Given the description of an element on the screen output the (x, y) to click on. 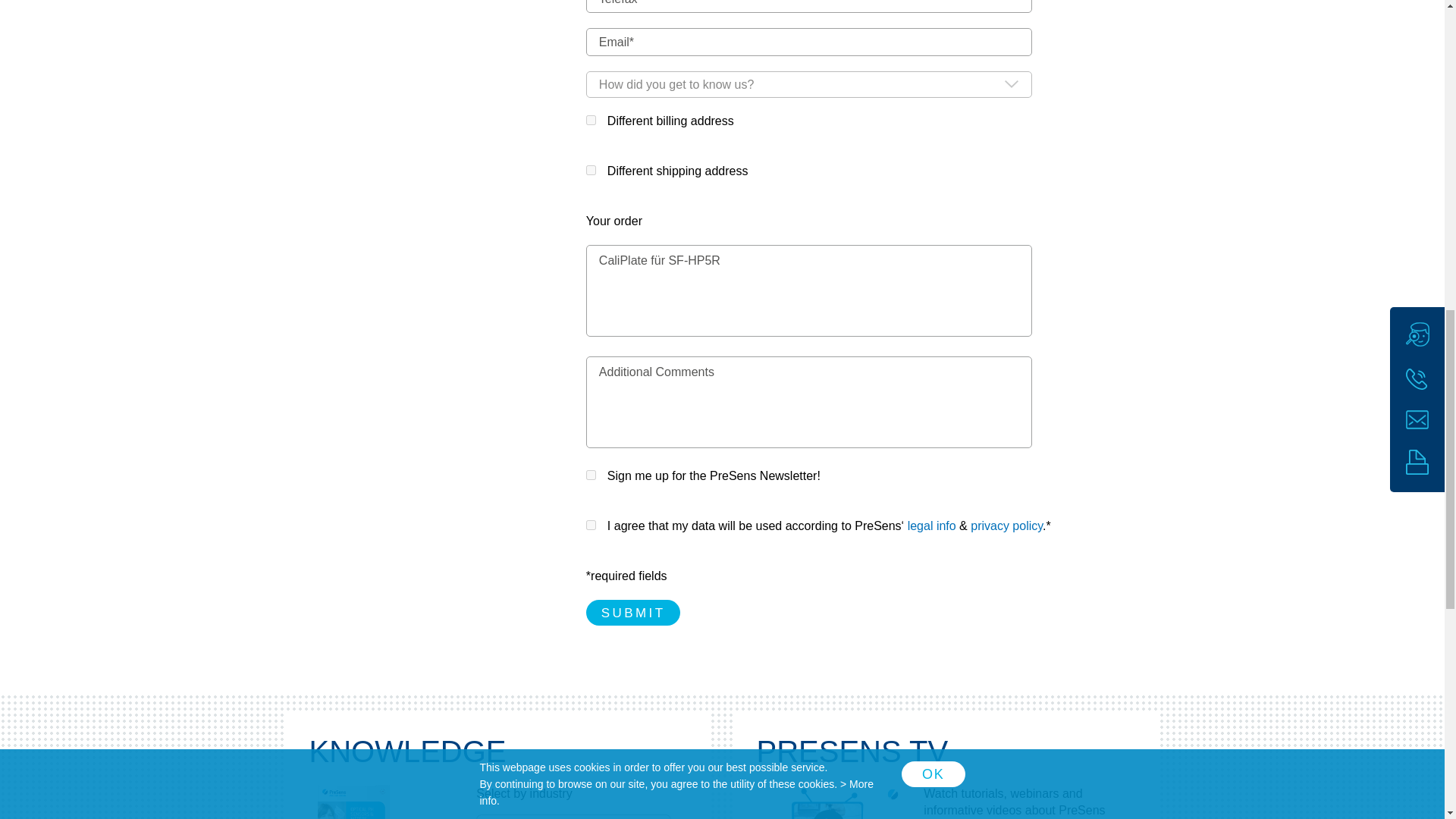
Submit (633, 612)
OK (933, 50)
yes (590, 120)
yes (590, 474)
yes (590, 524)
yes (590, 170)
